Given the description of an element on the screen output the (x, y) to click on. 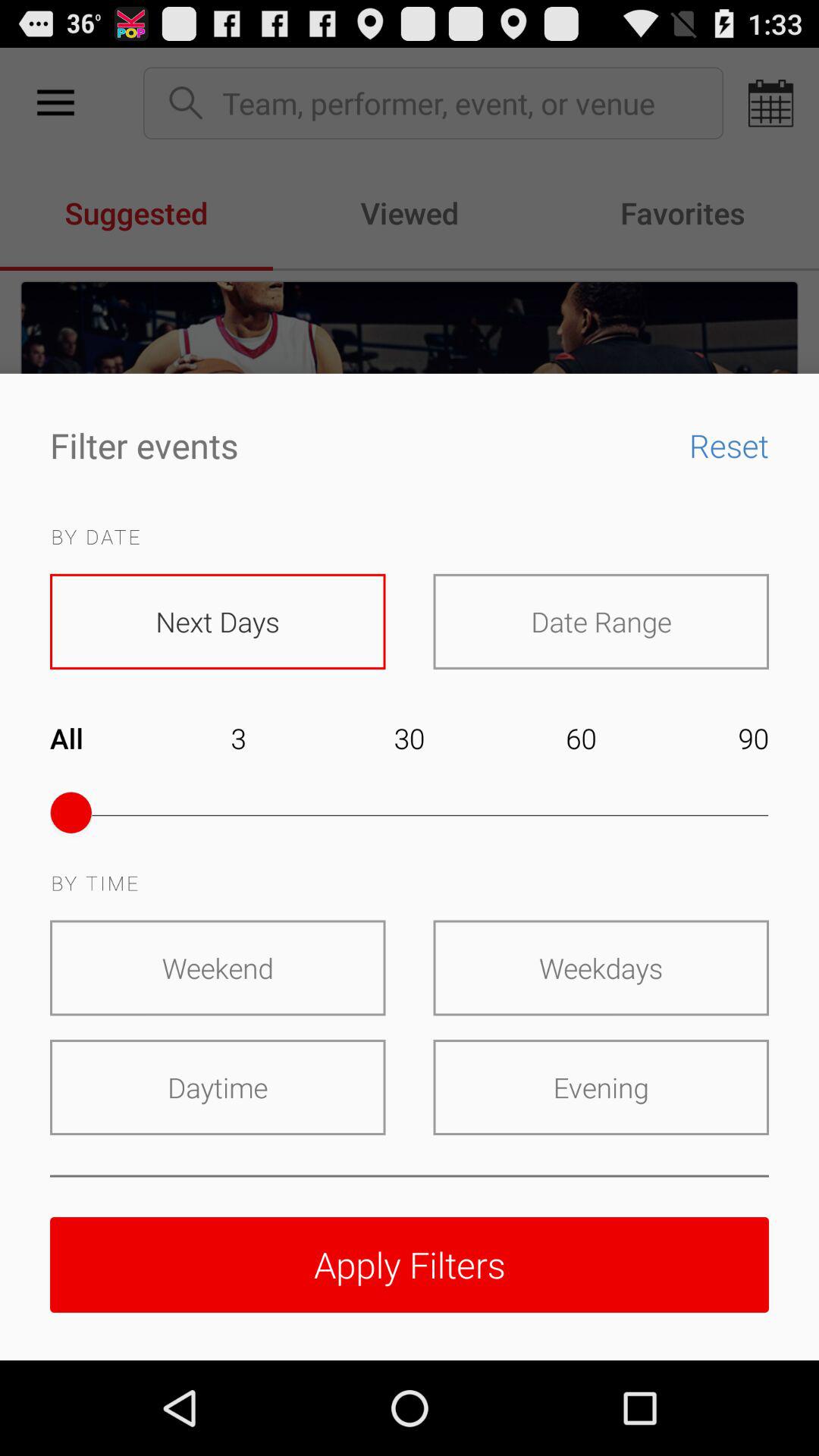
select the icon above 30 icon (600, 621)
